Given the description of an element on the screen output the (x, y) to click on. 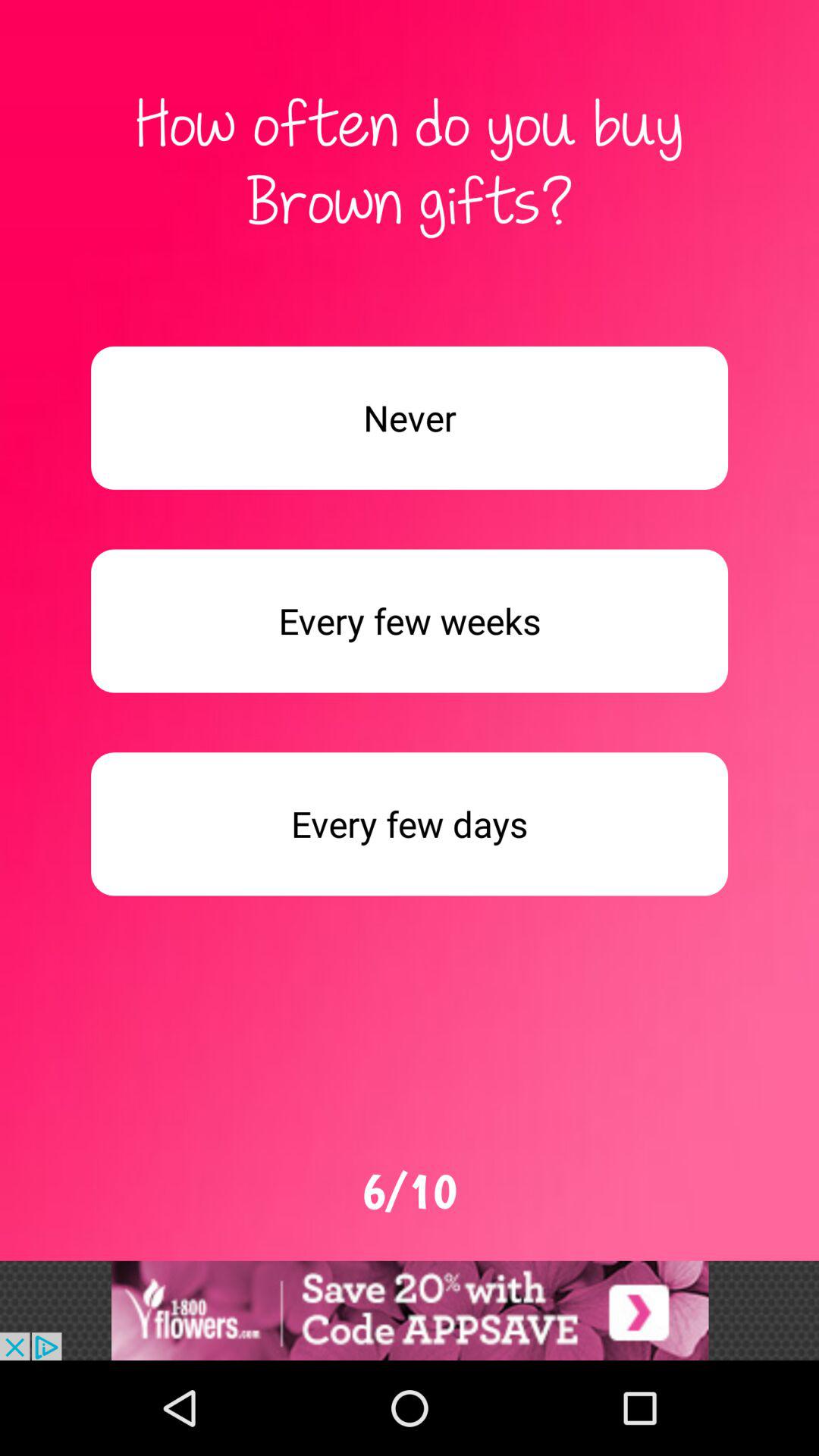
choose the selection (409, 1310)
